Given the description of an element on the screen output the (x, y) to click on. 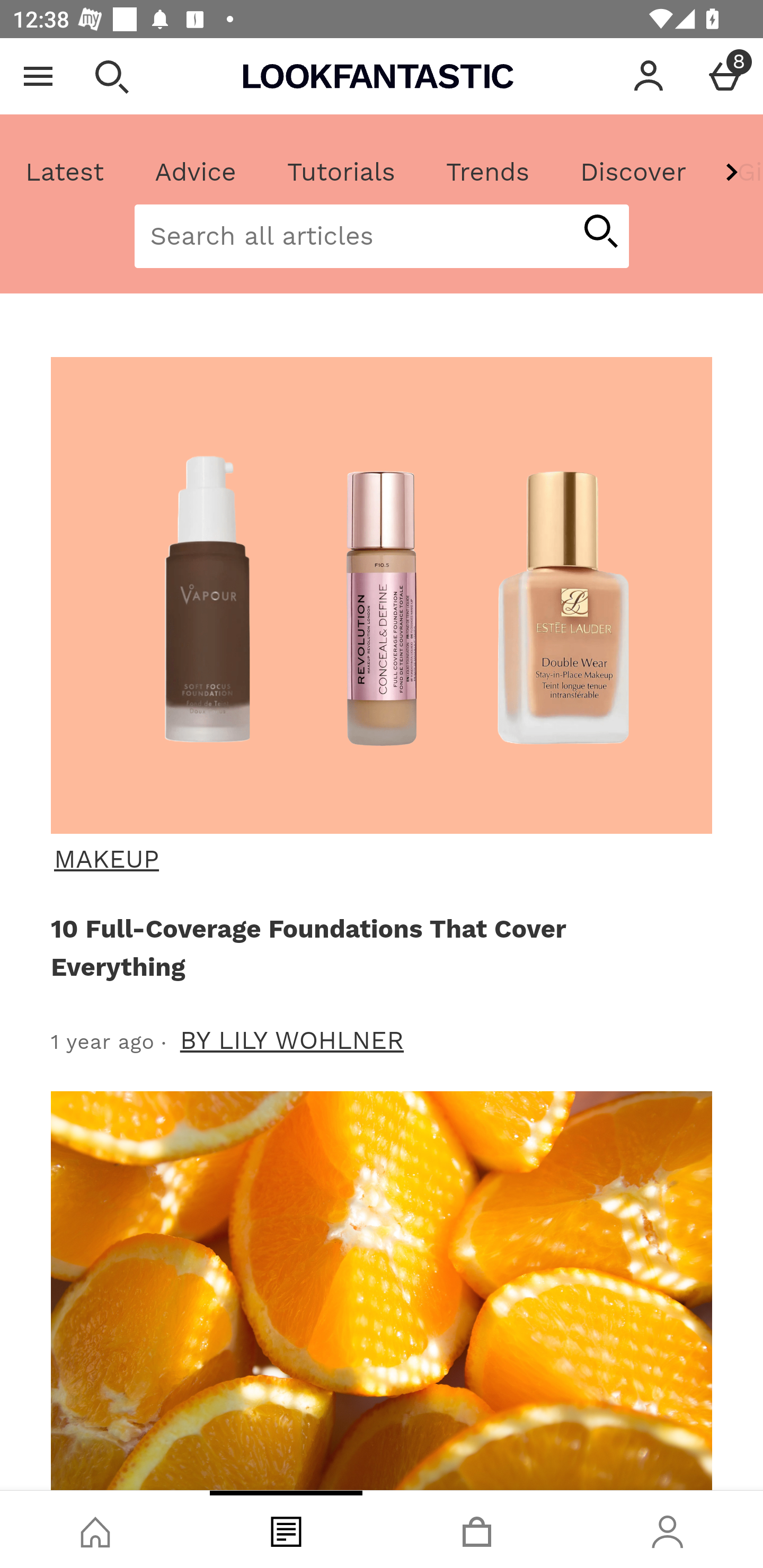
Open Menu (38, 75)
Open search (111, 75)
Account (648, 75)
Basket Menu (724, 75)
Lookfantastic USA Home page (378, 76)
Latest (65, 172)
Advice (195, 172)
Tutorials (340, 172)
Trends (486, 172)
Discover (632, 172)
Gift Guide (736, 172)
start article search (599, 232)
MAKEUP (379, 858)
10 Full-Coverage Foundations That Cover Everything (377, 947)
BY LILY WOHLNER (292, 1040)
Shop, tab, 1 of 4 (95, 1529)
Blog, tab, 2 of 4 (285, 1529)
Basket, tab, 3 of 4 (476, 1529)
Account, tab, 4 of 4 (667, 1529)
